Given the description of an element on the screen output the (x, y) to click on. 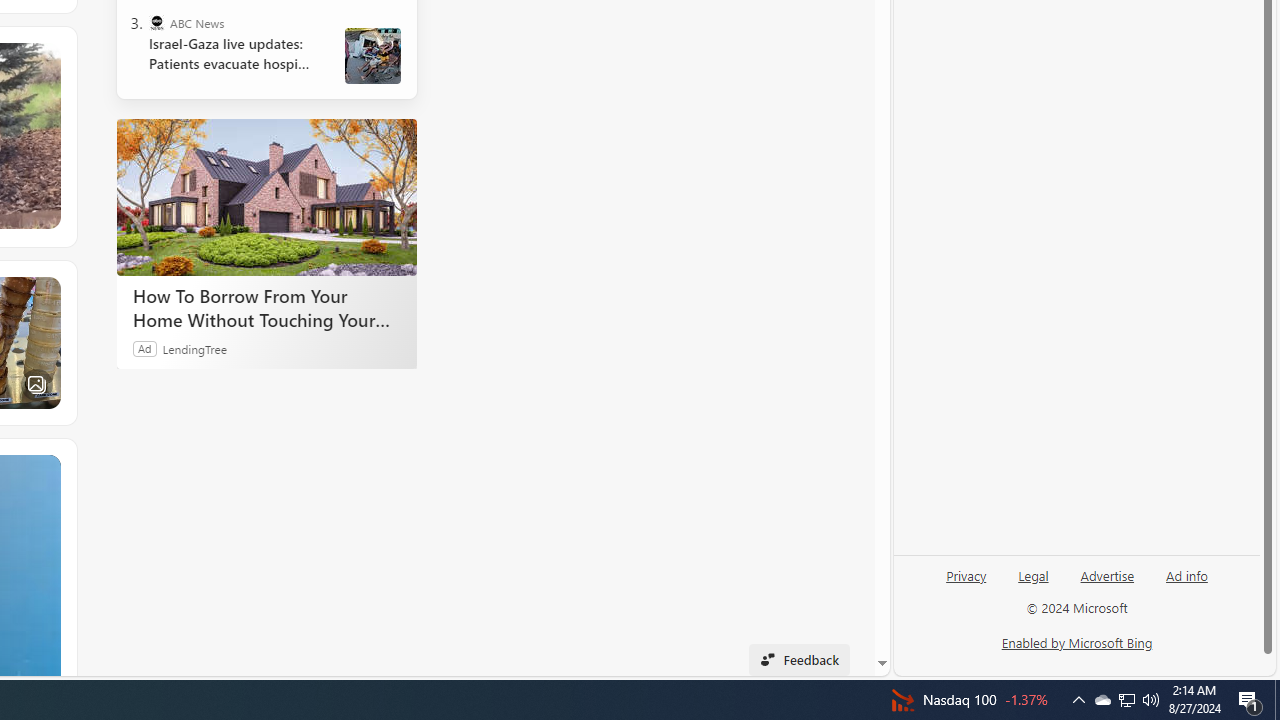
LendingTree (194, 348)
ABC News (156, 22)
